Given the description of an element on the screen output the (x, y) to click on. 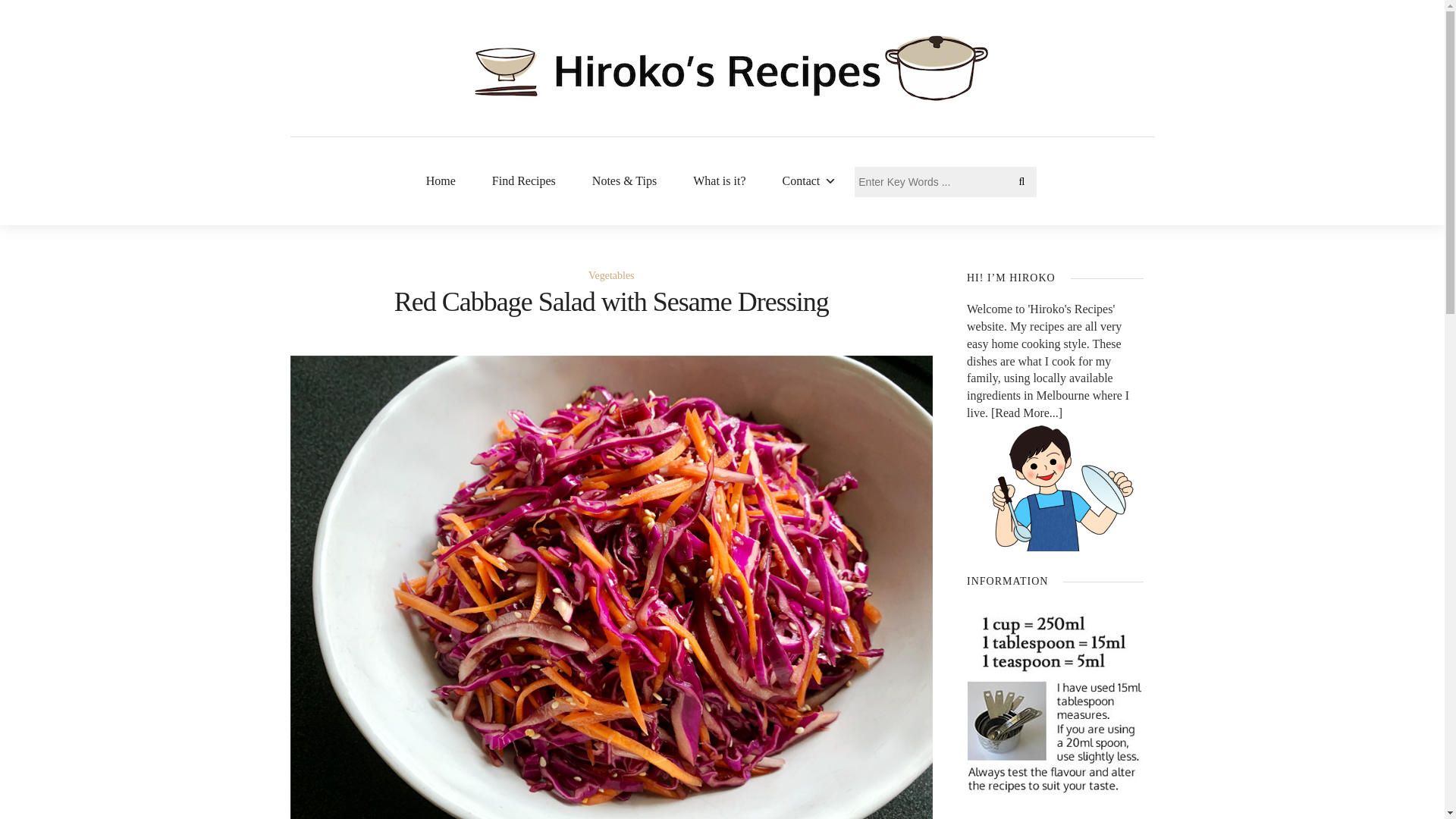
Vegetables (611, 275)
What is it? (718, 180)
Contact (810, 180)
Find Recipes (523, 180)
Search (22, 17)
Home (440, 180)
